Given the description of an element on the screen output the (x, y) to click on. 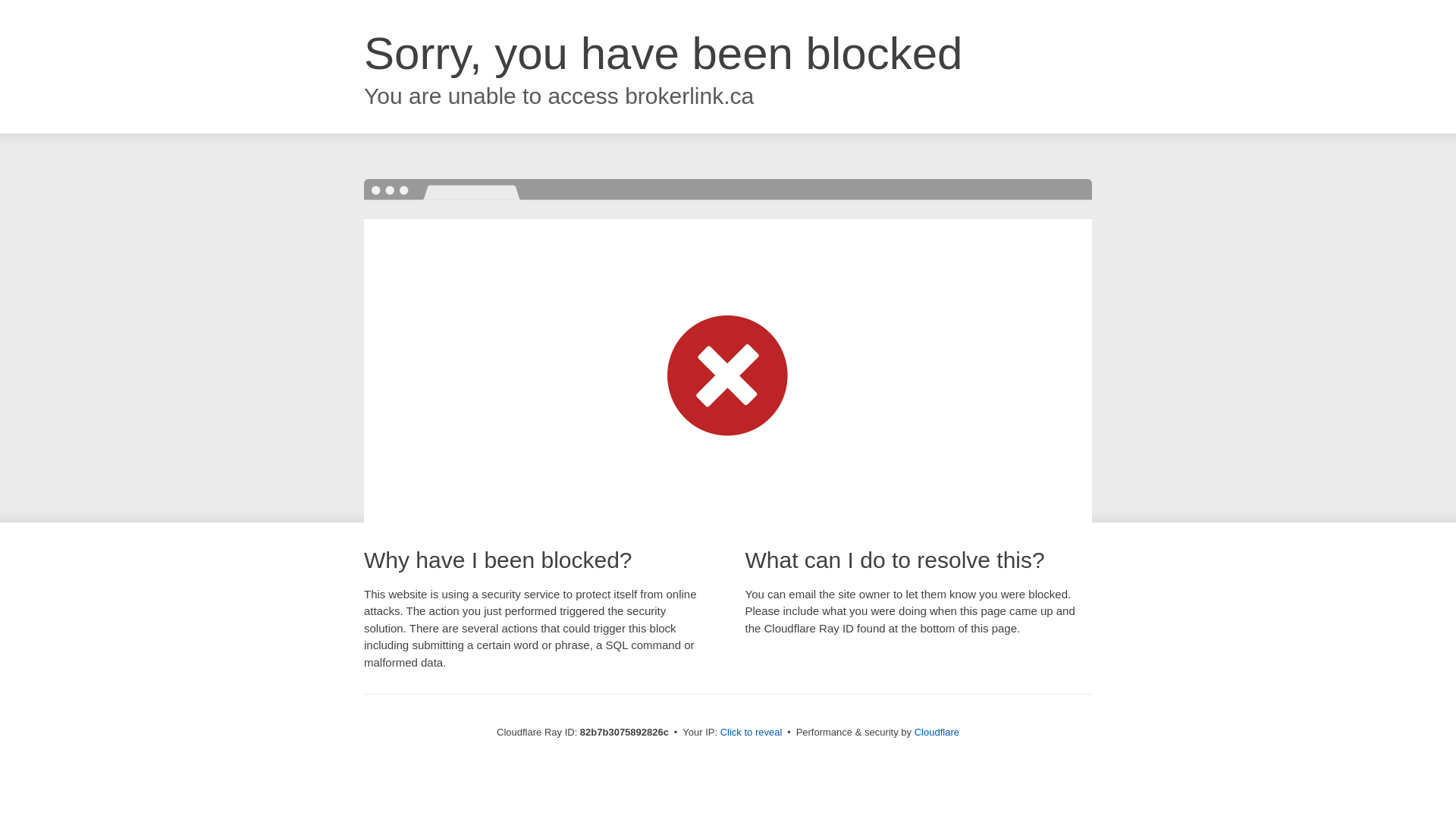
Cloudflare Element type: text (936, 731)
Click to reveal Element type: text (751, 732)
